Given the description of an element on the screen output the (x, y) to click on. 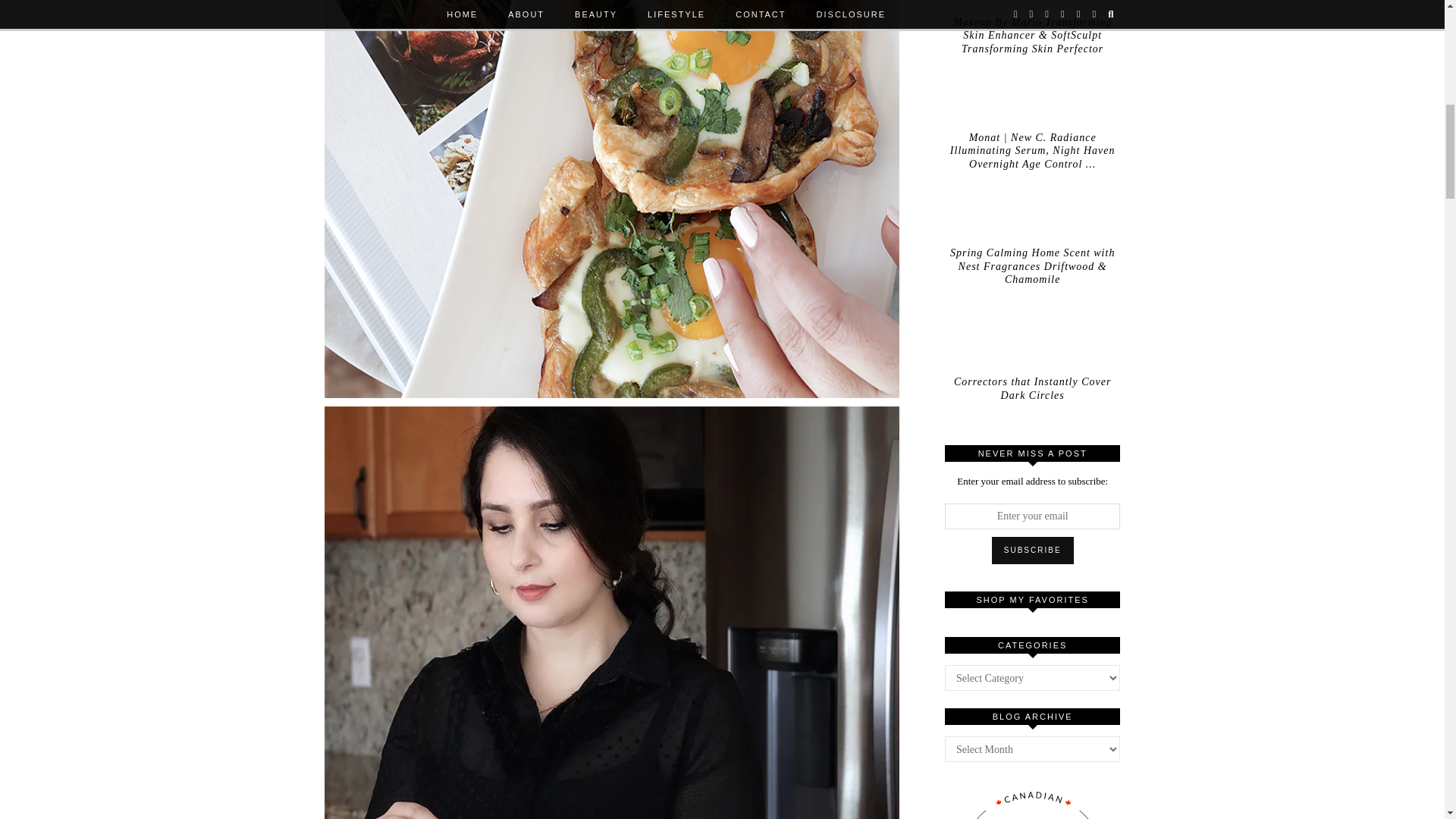
Subscribe (1032, 550)
